Given the description of an element on the screen output the (x, y) to click on. 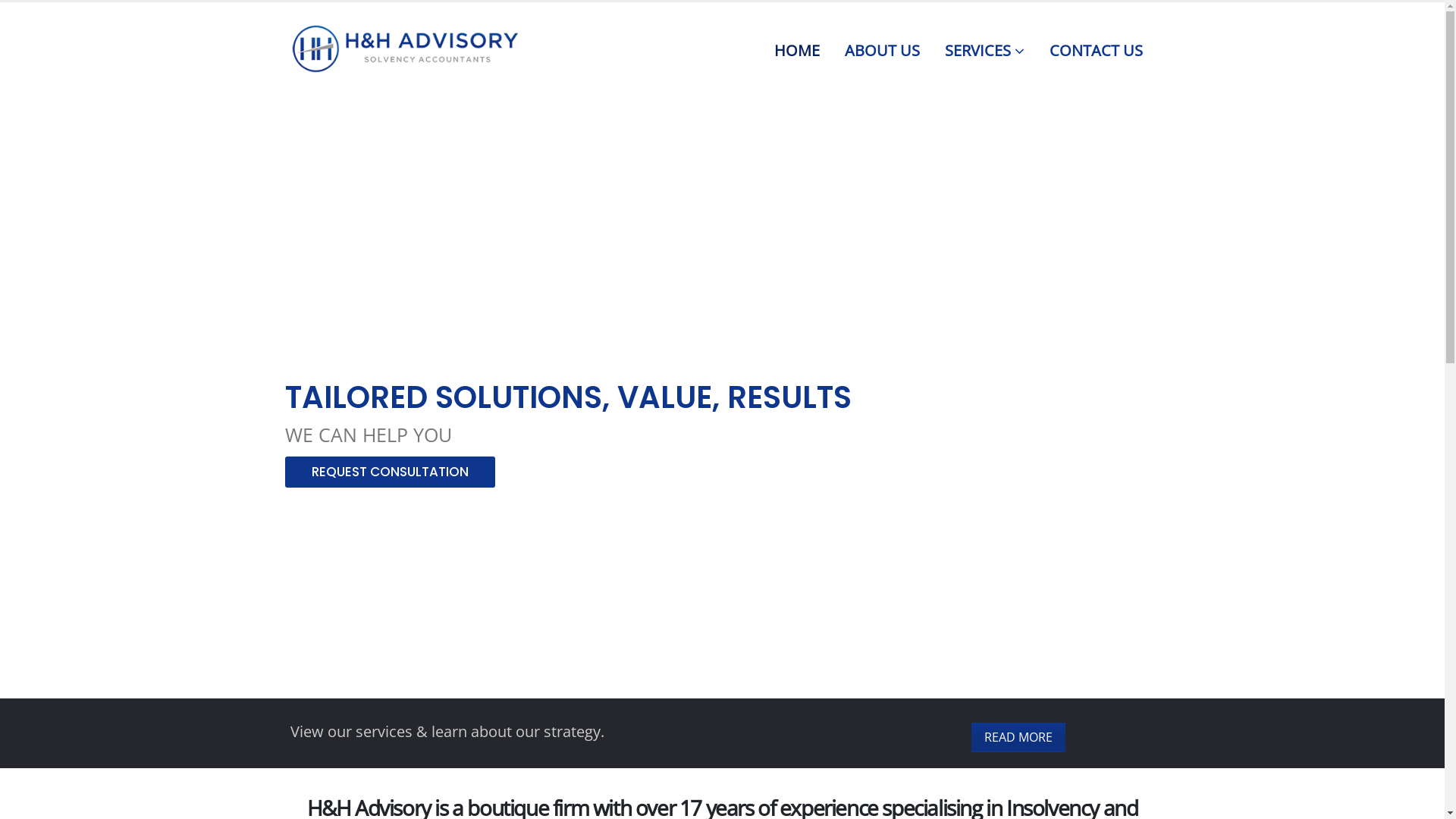
ABOUT US Element type: text (881, 47)
READ MORE Element type: text (1017, 737)
HOME Element type: text (796, 47)
SERVICES Element type: text (984, 47)
H&H Advisory - Solvency Accountants Element type: hover (403, 47)
CONTACT US Element type: text (1095, 47)
